Given the description of an element on the screen output the (x, y) to click on. 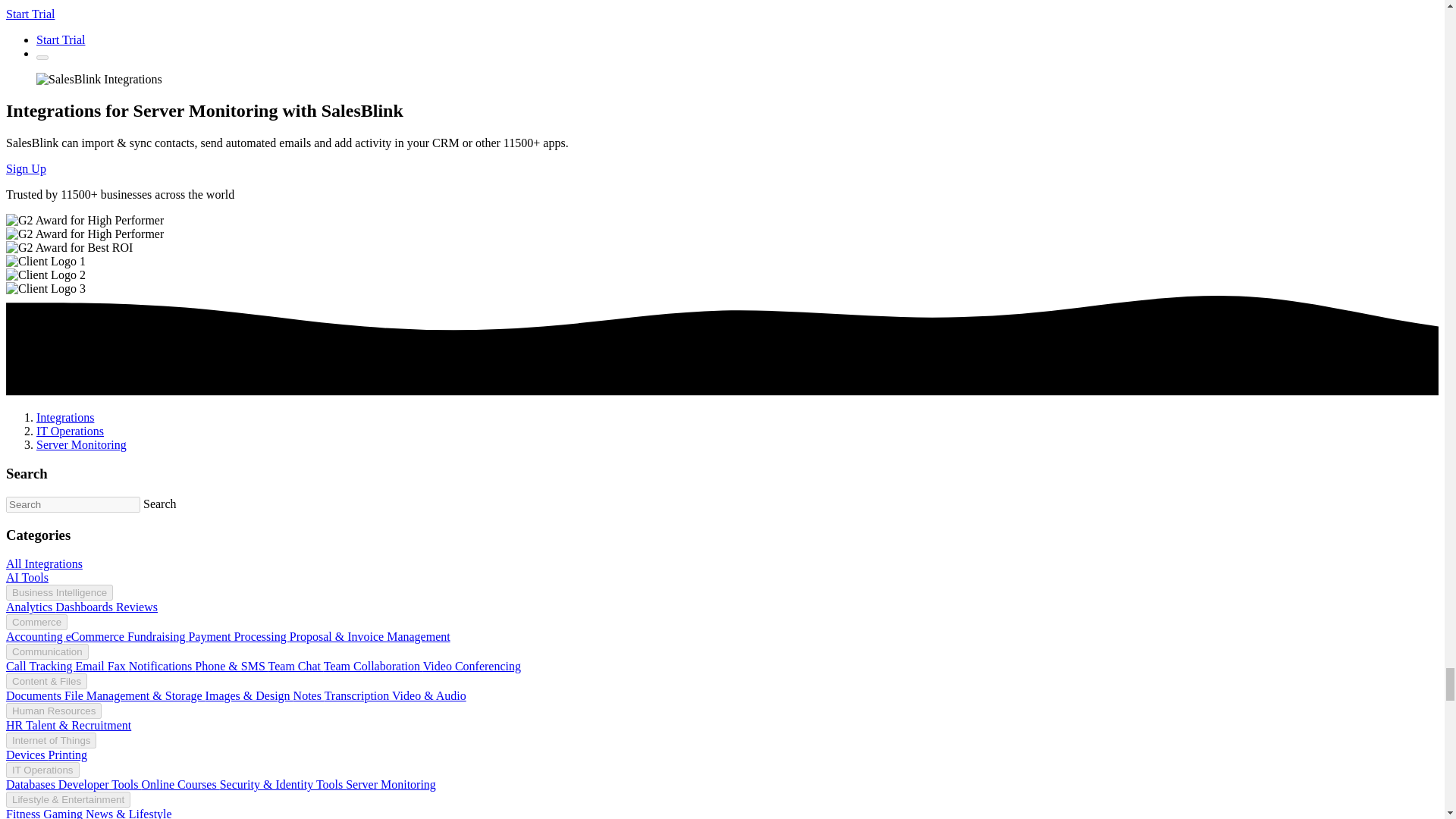
Payment Processing (237, 635)
AI Tools (26, 576)
Sign Up (25, 168)
Analytics (30, 606)
Server Monitoring (81, 444)
Fundraising (157, 635)
Business Intelligence (59, 592)
G2 Award for High Performer (84, 220)
IT Operations (69, 431)
Accounting (35, 635)
